Given the description of an element on the screen output the (x, y) to click on. 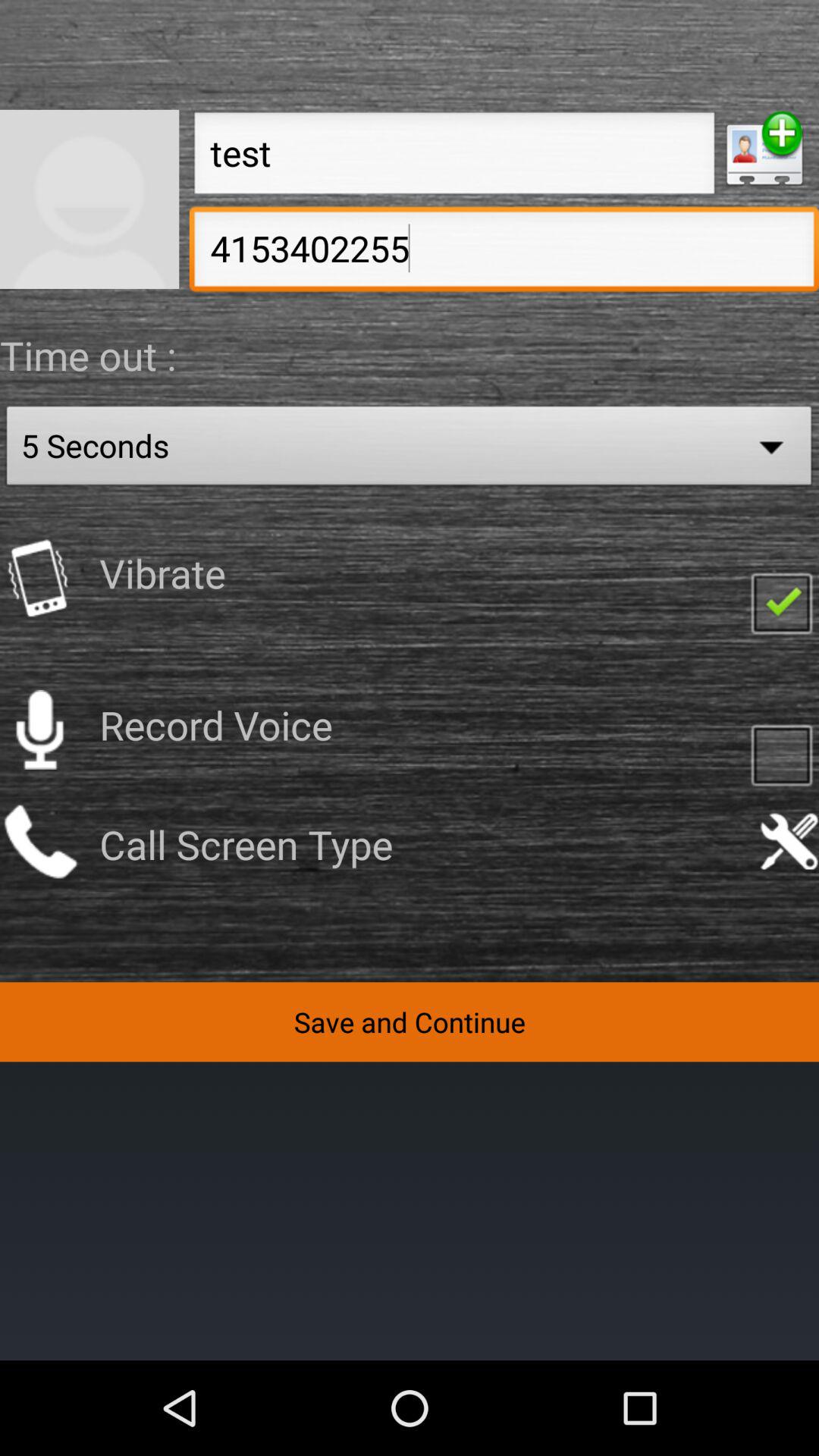
tools button (789, 841)
